Given the description of an element on the screen output the (x, y) to click on. 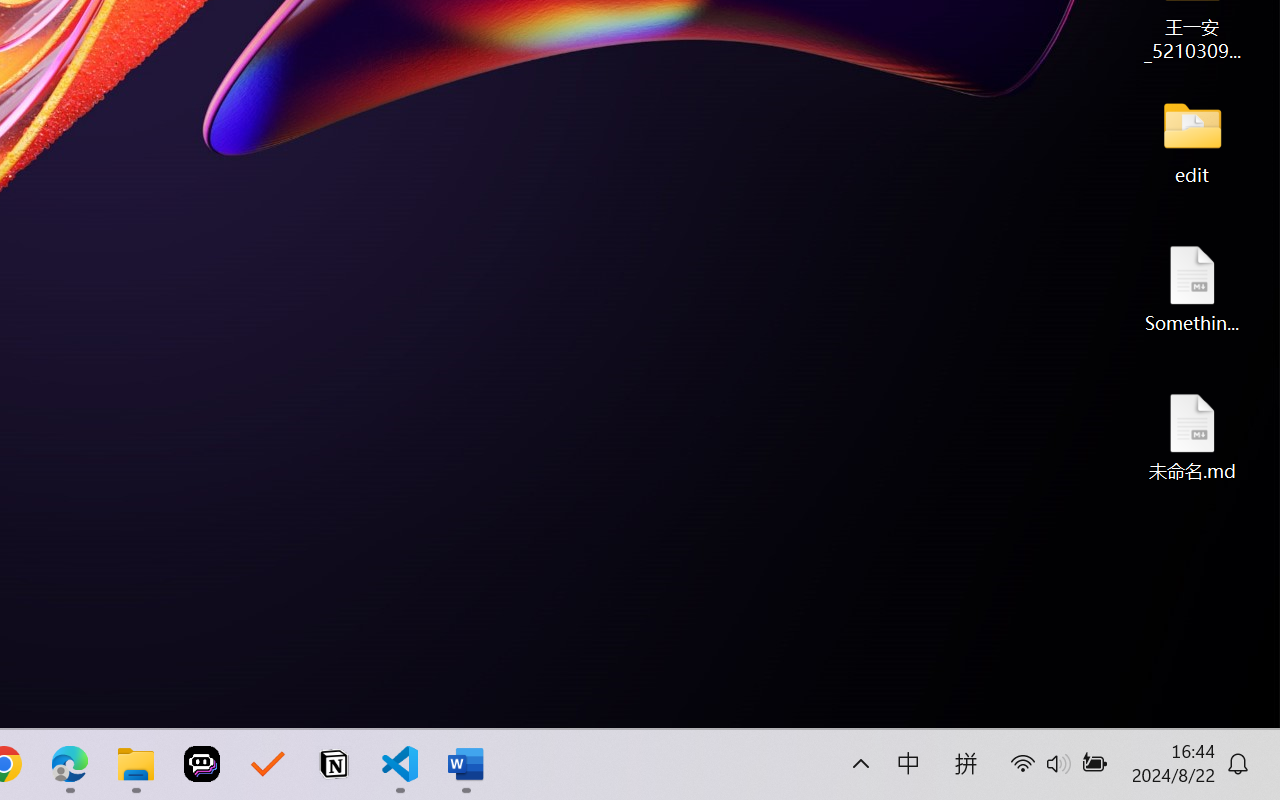
Something.md (1192, 288)
edit (1192, 140)
